Given the description of an element on the screen output the (x, y) to click on. 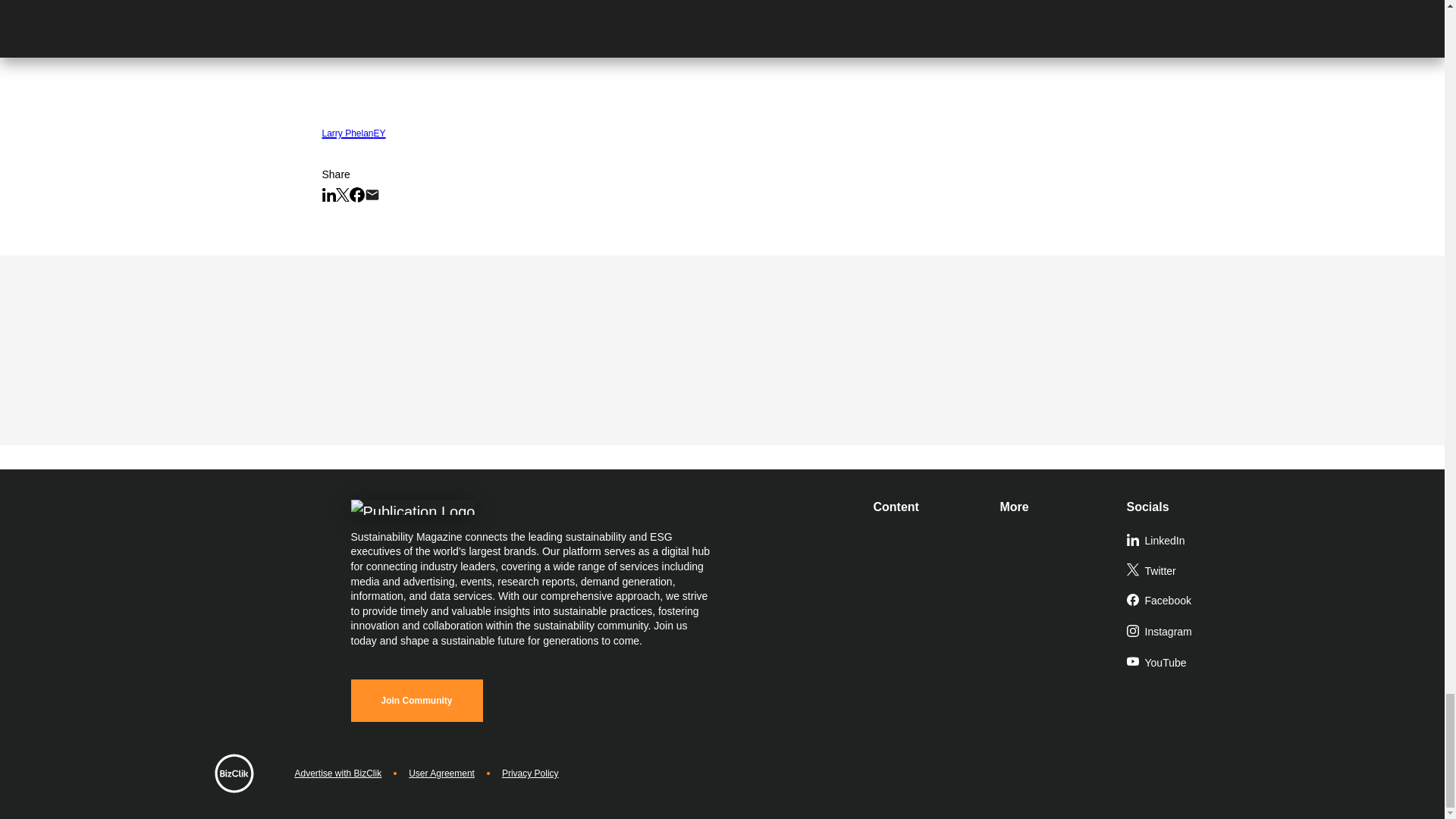
Instagram (1182, 632)
Facebook (1182, 601)
Larry Phelan (346, 130)
Advertise with BizClik (337, 773)
LinkedIn (1182, 541)
Twitter (1182, 571)
YouTube (1182, 663)
Join Community (415, 700)
User Agreement (441, 773)
Privacy Policy (530, 773)
